Given the description of an element on the screen output the (x, y) to click on. 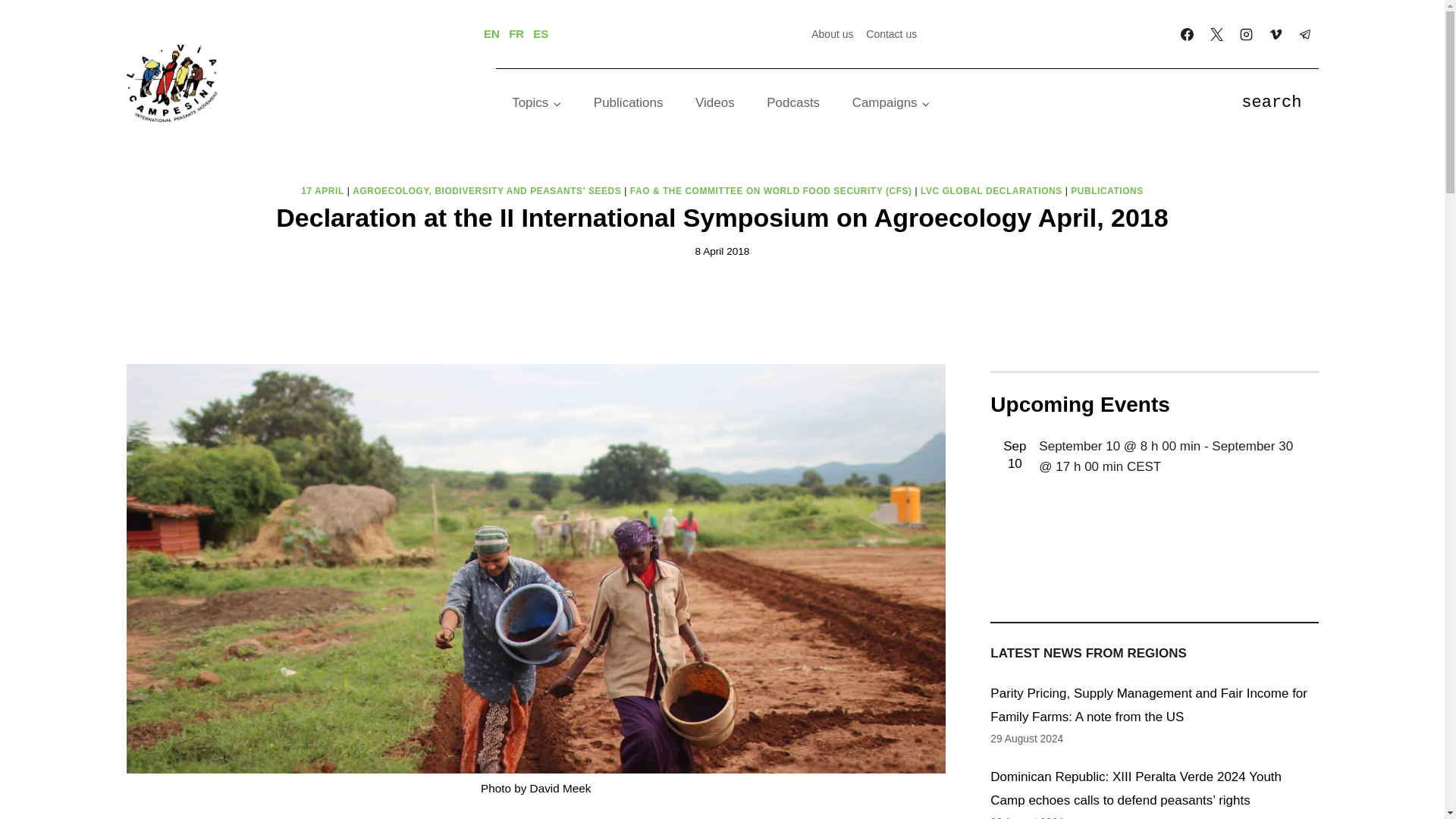
ES (540, 33)
search (1270, 102)
17 APRIL (322, 190)
Publications (628, 103)
Videos (715, 103)
Campaigns (890, 103)
Podcasts (793, 103)
FR (516, 33)
EN (491, 33)
